Given the description of an element on the screen output the (x, y) to click on. 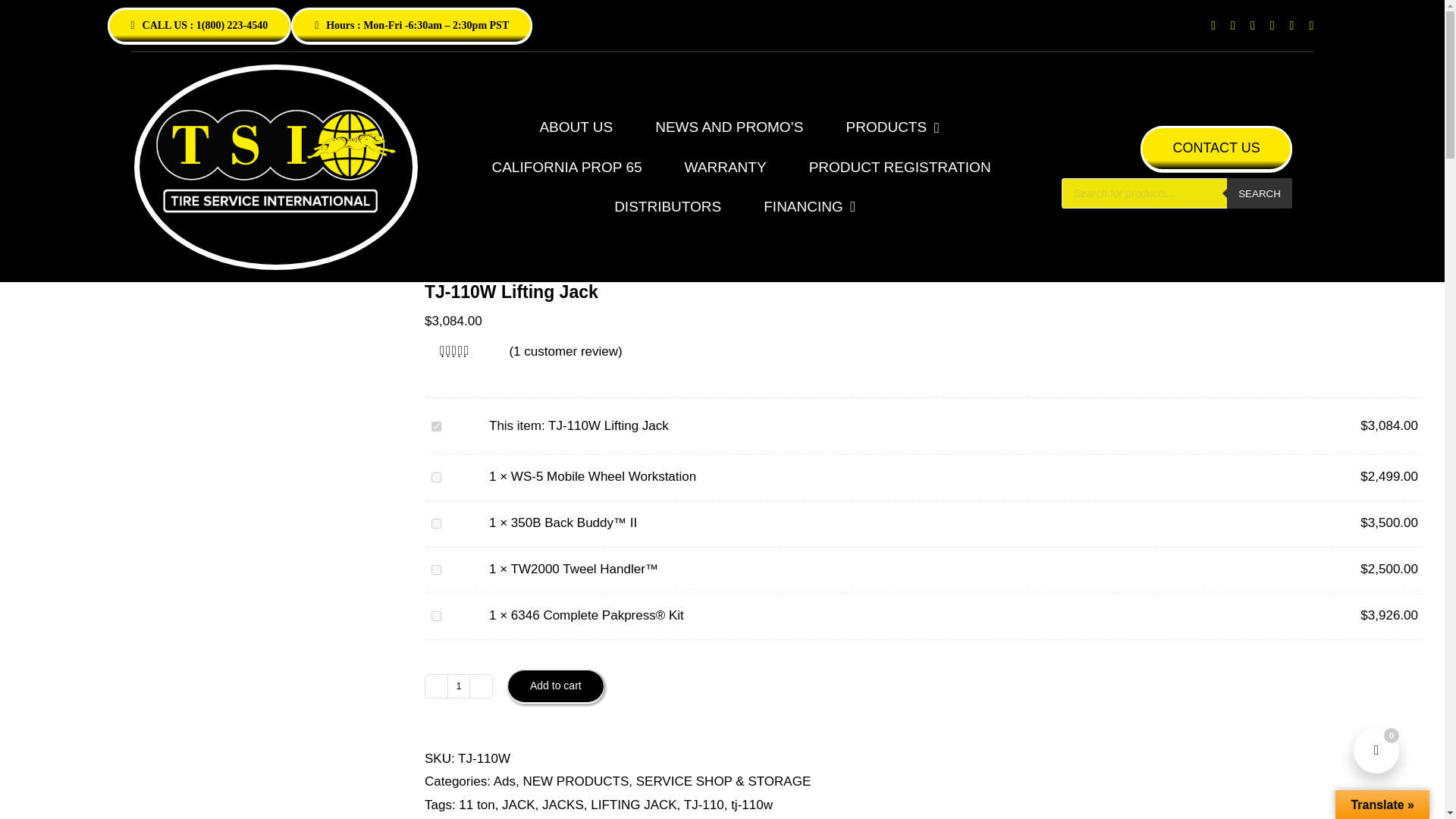
1768 (435, 477)
ABOUT US (575, 127)
PRODUCT REGISTRATION (900, 167)
CALIFORNIA PROP 65 (566, 167)
1 (458, 685)
WARRANTY (725, 167)
1938 (435, 615)
PRODUCTS (892, 127)
on (435, 426)
1899 (435, 569)
